Given the description of an element on the screen output the (x, y) to click on. 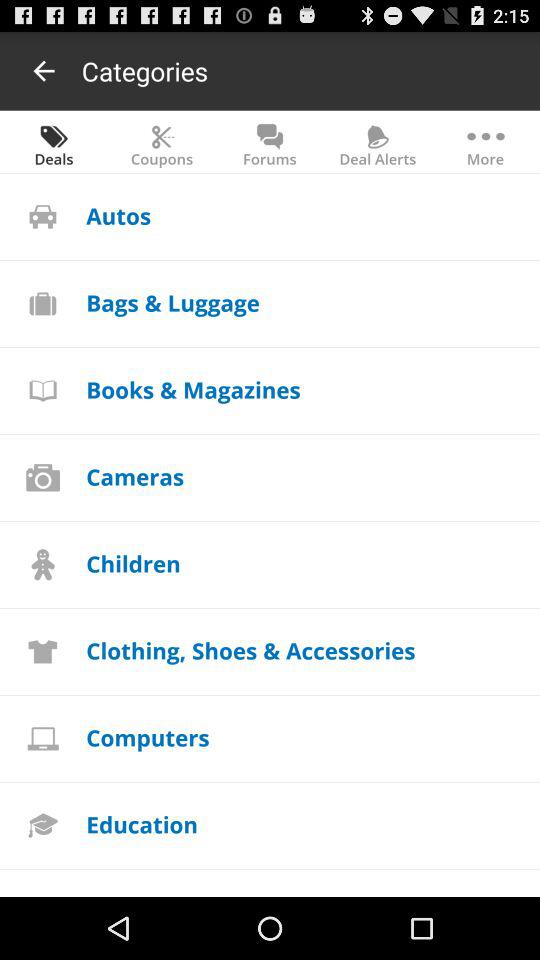
scroll until children (133, 562)
